Given the description of an element on the screen output the (x, y) to click on. 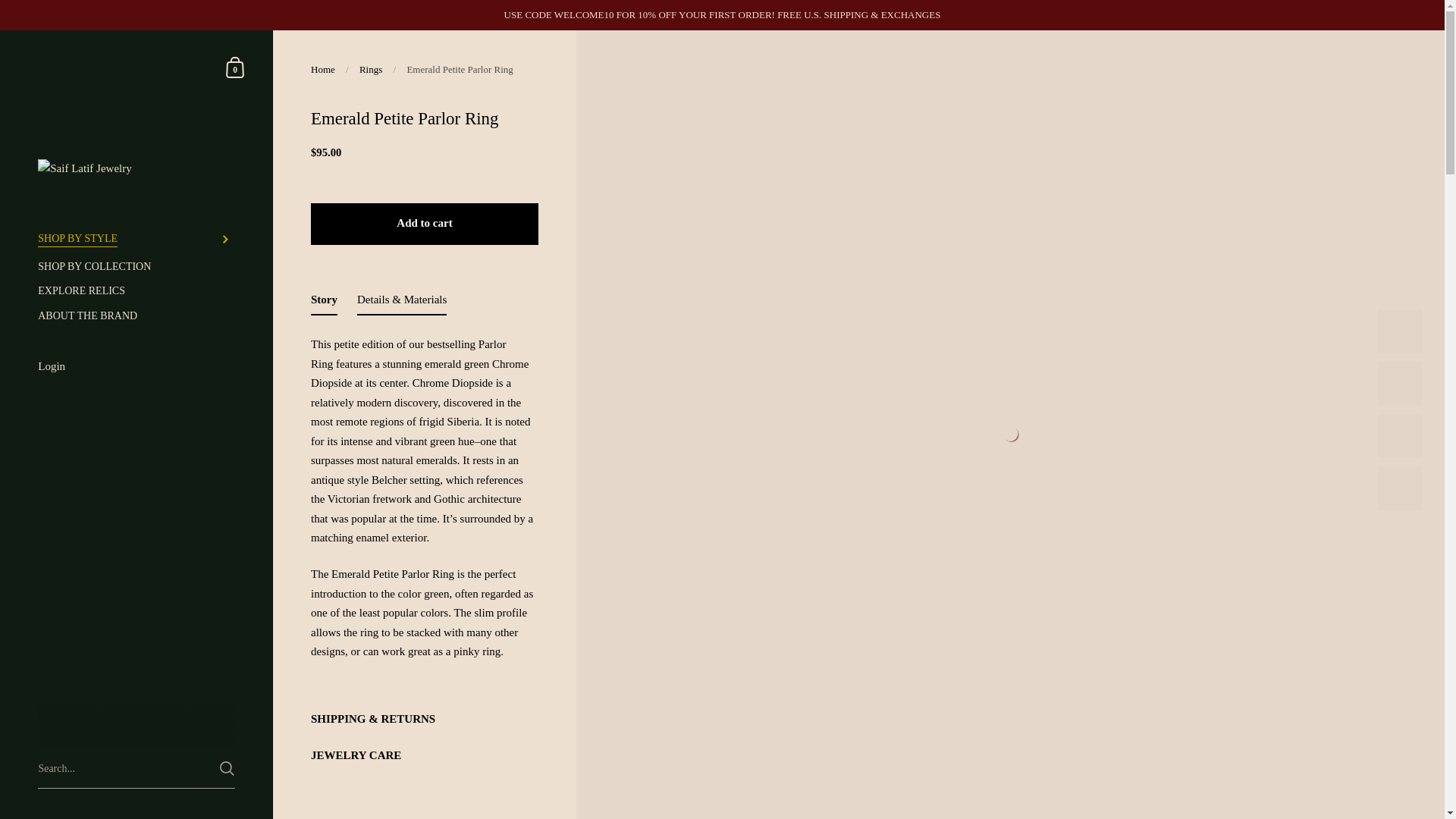
Home (322, 69)
0 (235, 66)
Rings (370, 69)
SHOP BY STYLE (136, 239)
SHOP BY COLLECTION (136, 267)
ABOUT THE BRAND (136, 316)
Story (324, 303)
Shopping Cart (235, 66)
EXPLORE RELICS (136, 291)
Login (136, 367)
